Given the description of an element on the screen output the (x, y) to click on. 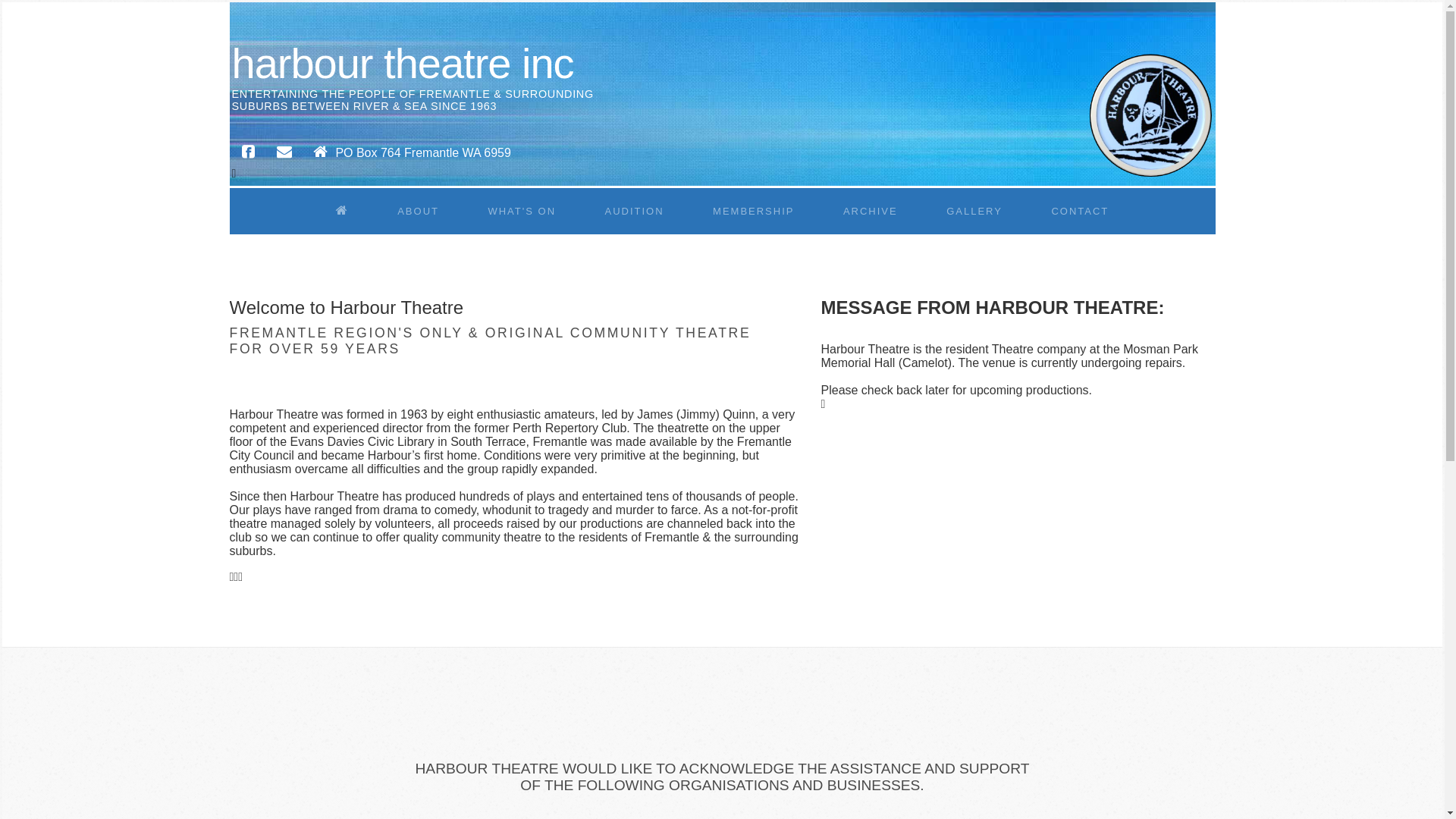
GALLERY Element type: text (974, 211)
ARCHIVE Element type: text (870, 211)
AUDITION Element type: text (633, 211)
WHAT'S ON Element type: text (521, 211)
MEMBERSHIP Element type: text (753, 211)
PO Box 764 Fremantle WA 6959 Element type: text (407, 152)
CONTACT Element type: text (1079, 211)
ABOUT Element type: text (417, 211)
harbour theatre inc Element type: text (403, 63)
